Given the description of an element on the screen output the (x, y) to click on. 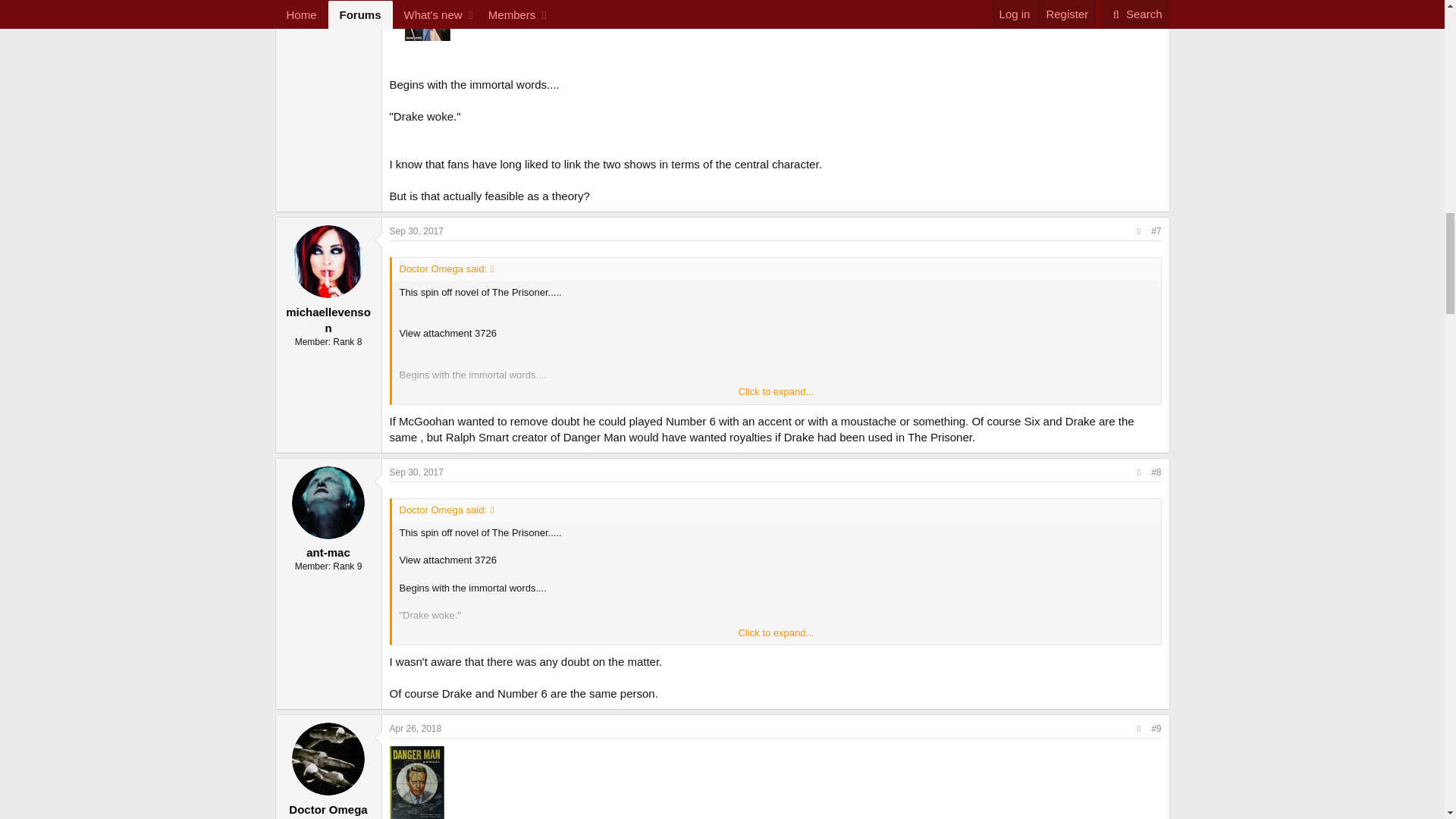
Sep 30, 2017 at 4:55 AM (417, 231)
Sep 30, 2017 at 5:05 AM (417, 471)
